Given the description of an element on the screen output the (x, y) to click on. 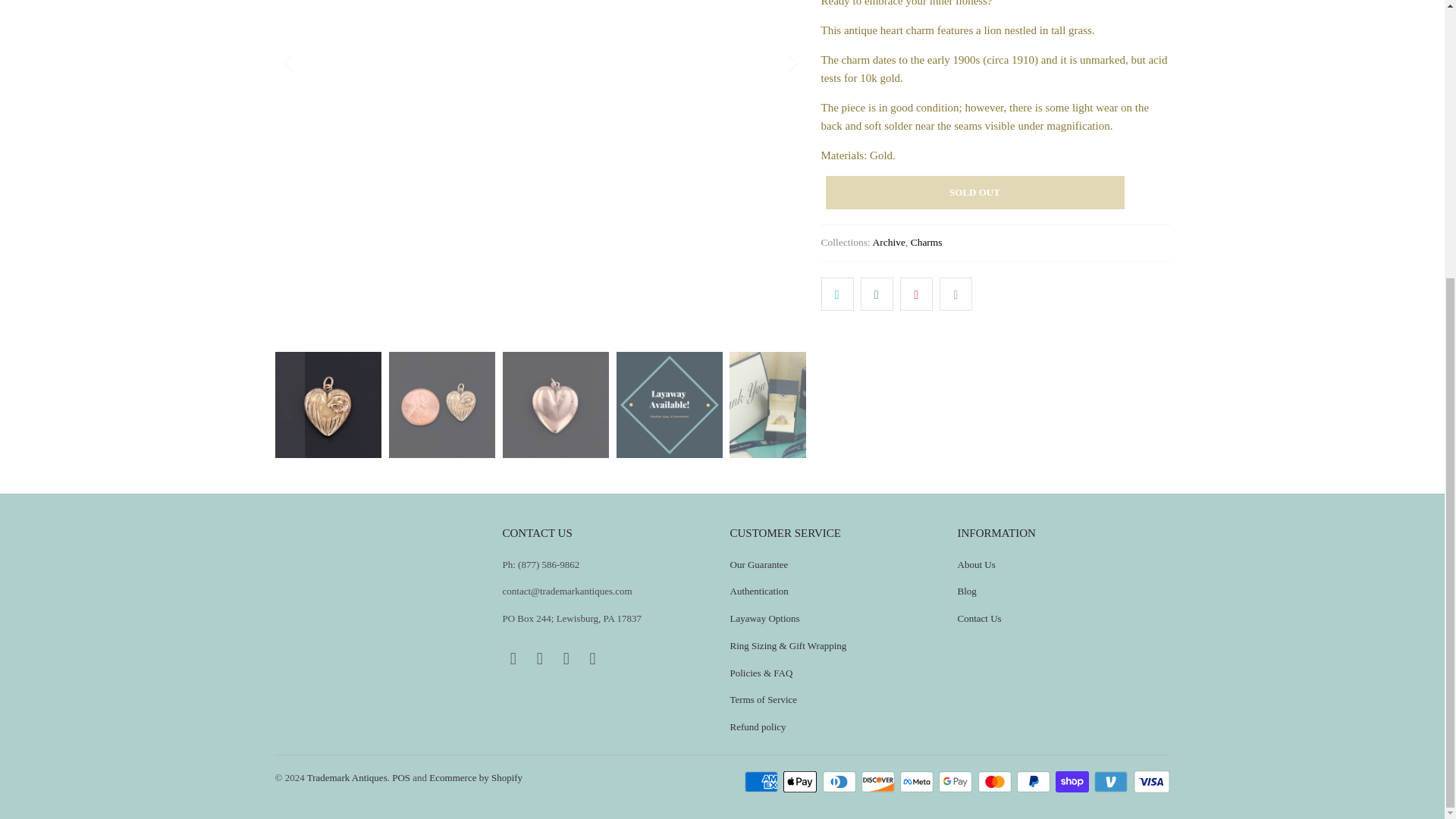
Share this on Facebook (876, 294)
Visa (1150, 781)
Mastercard (996, 781)
Share this on Pinterest (916, 294)
Share this on Twitter (837, 294)
Meta Pay (917, 781)
PayPal (1034, 781)
Diners Club (840, 781)
Email this to a friend (955, 294)
Discover (879, 781)
